Given the description of an element on the screen output the (x, y) to click on. 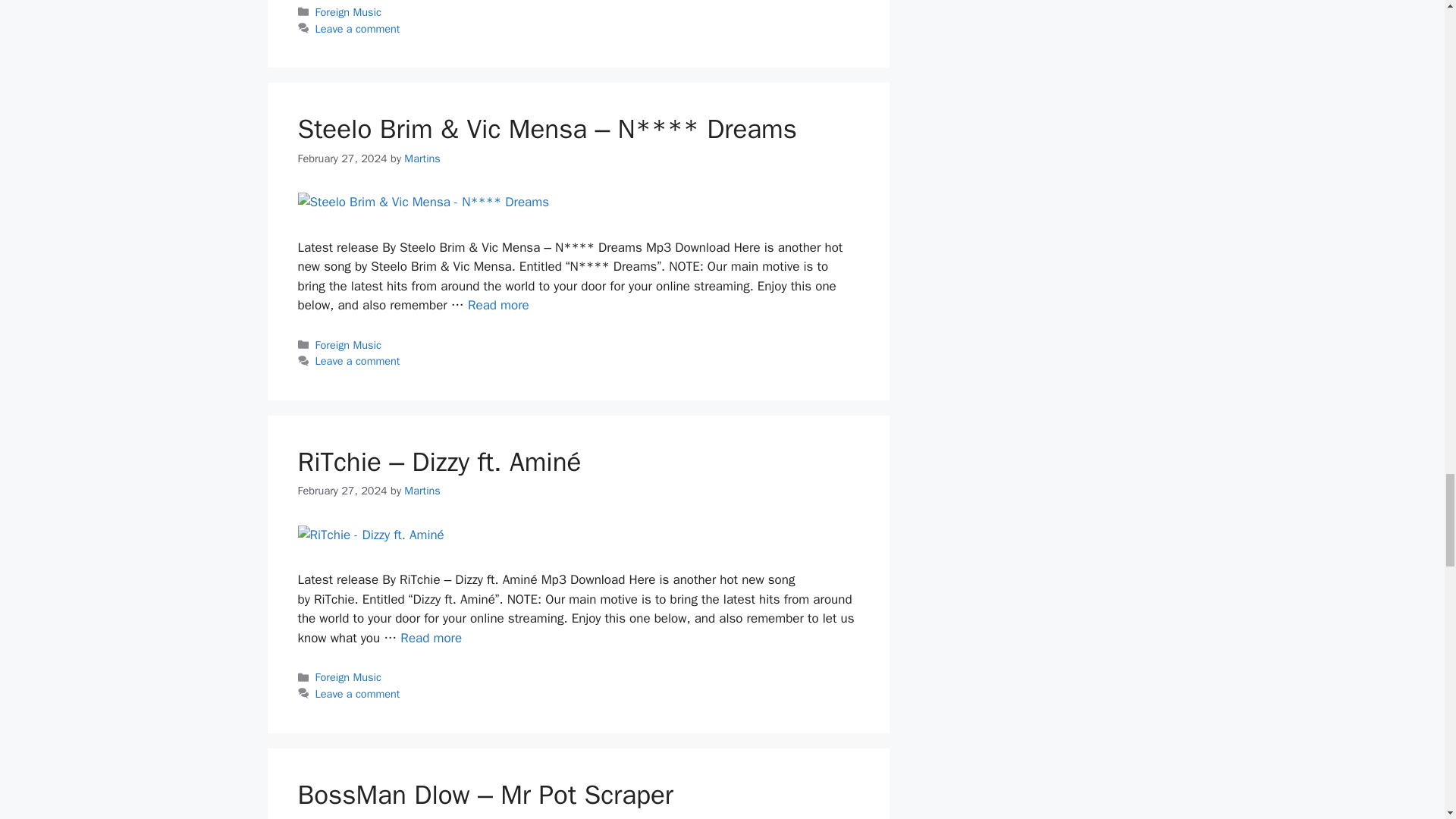
View all posts by Martins (422, 490)
View all posts by Martins (422, 158)
